Given the description of an element on the screen output the (x, y) to click on. 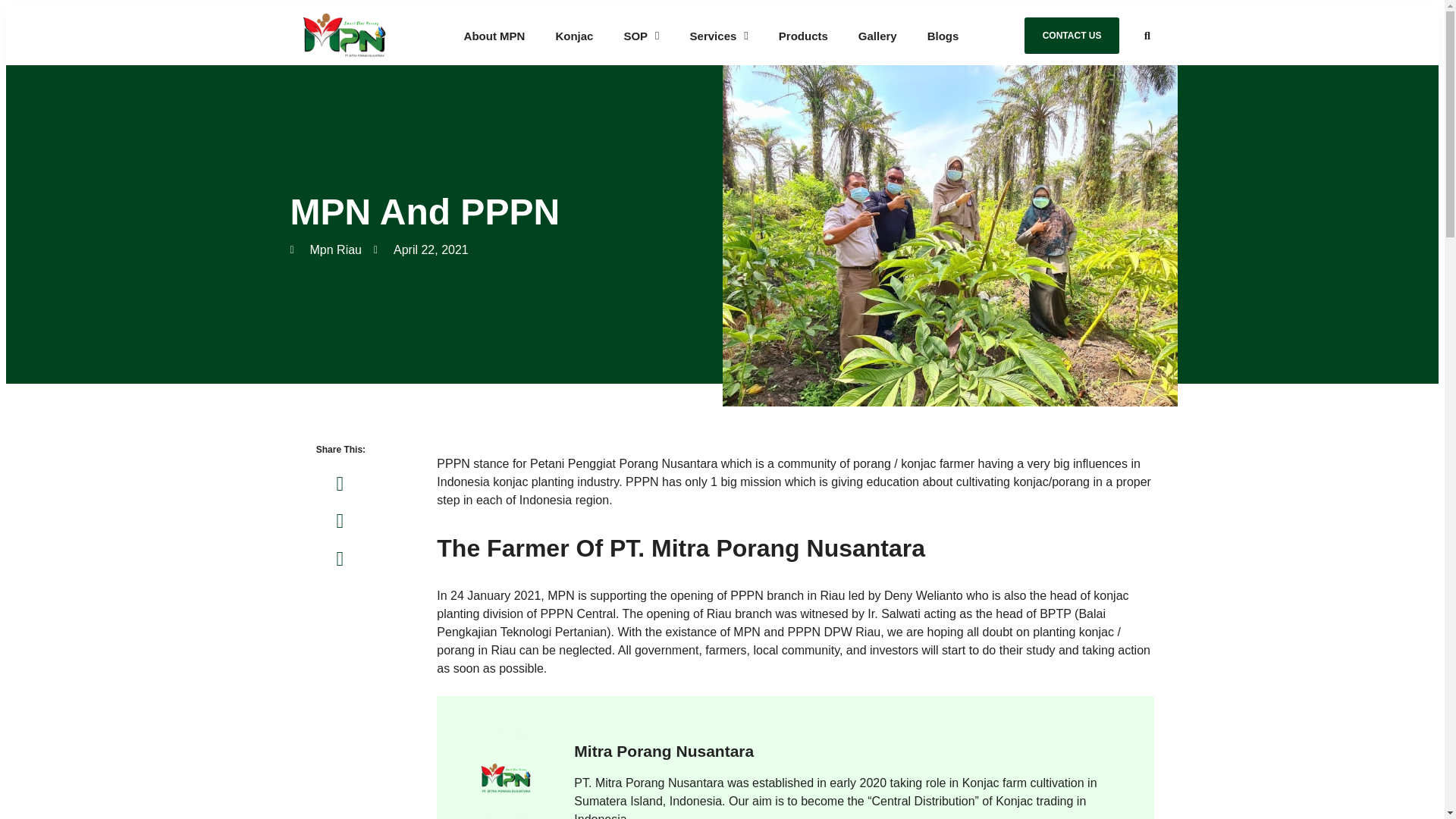
April 22, 2021 (421, 250)
Mpn Riau (325, 250)
Services (719, 34)
Mitra Porang Nusantara (852, 751)
Blogs (943, 34)
Products (803, 34)
Gallery (877, 34)
SOP (641, 34)
About MPN (494, 34)
CONTACT US (1072, 35)
